Given the description of an element on the screen output the (x, y) to click on. 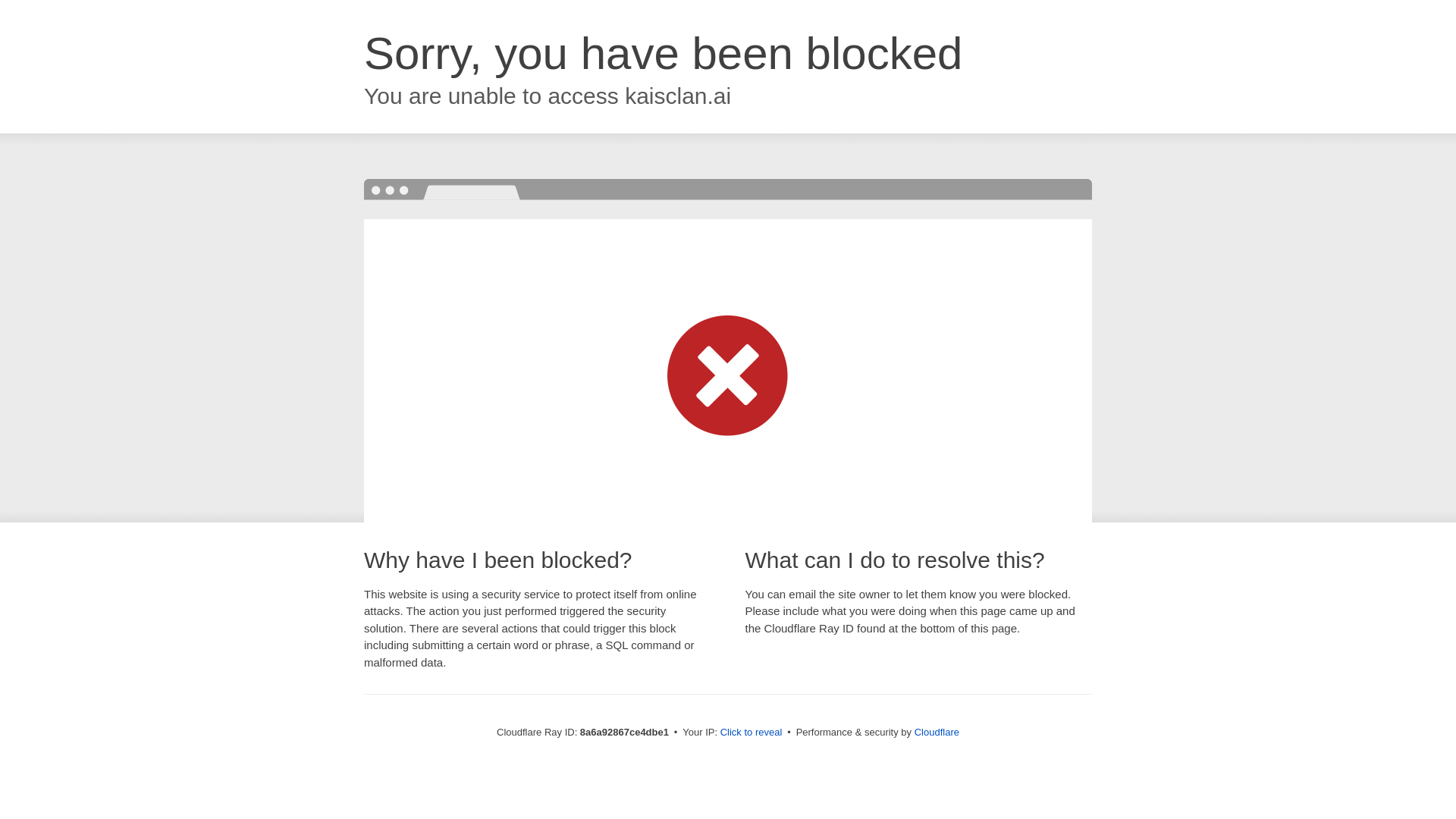
Cloudflare (936, 731)
Click to reveal (751, 732)
